Given the description of an element on the screen output the (x, y) to click on. 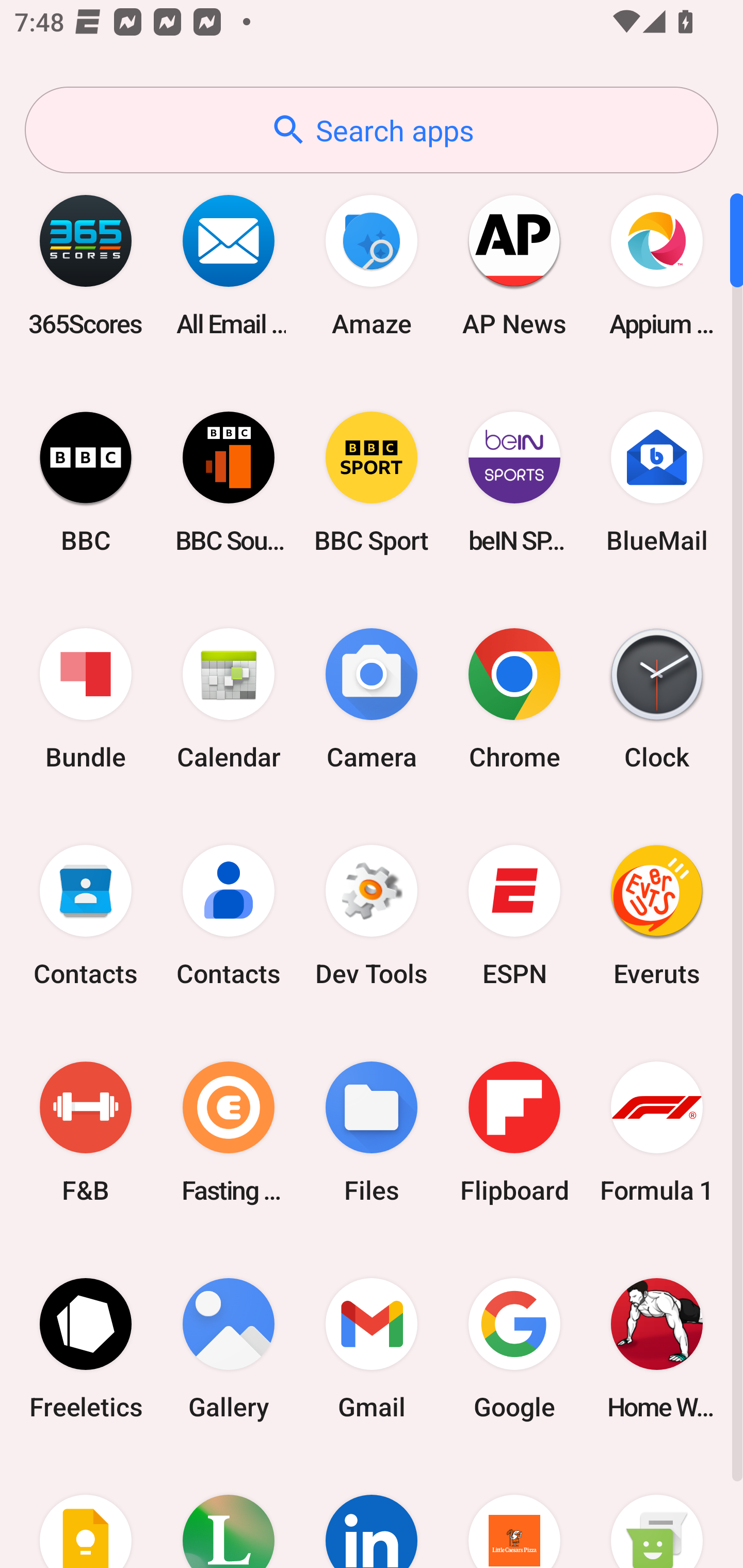
  Search apps (371, 130)
365Scores (85, 264)
All Email Connect (228, 264)
Amaze (371, 264)
AP News (514, 264)
Appium Settings (656, 264)
BBC (85, 482)
BBC Sounds (228, 482)
BBC Sport (371, 482)
beIN SPORTS (514, 482)
BlueMail (656, 482)
Bundle (85, 699)
Calendar (228, 699)
Camera (371, 699)
Chrome (514, 699)
Clock (656, 699)
Contacts (85, 915)
Contacts (228, 915)
Dev Tools (371, 915)
ESPN (514, 915)
Everuts (656, 915)
F&B (85, 1131)
Fasting Coach (228, 1131)
Files (371, 1131)
Flipboard (514, 1131)
Formula 1 (656, 1131)
Freeletics (85, 1348)
Gallery (228, 1348)
Gmail (371, 1348)
Google (514, 1348)
Home Workout (656, 1348)
